Given the description of an element on the screen output the (x, y) to click on. 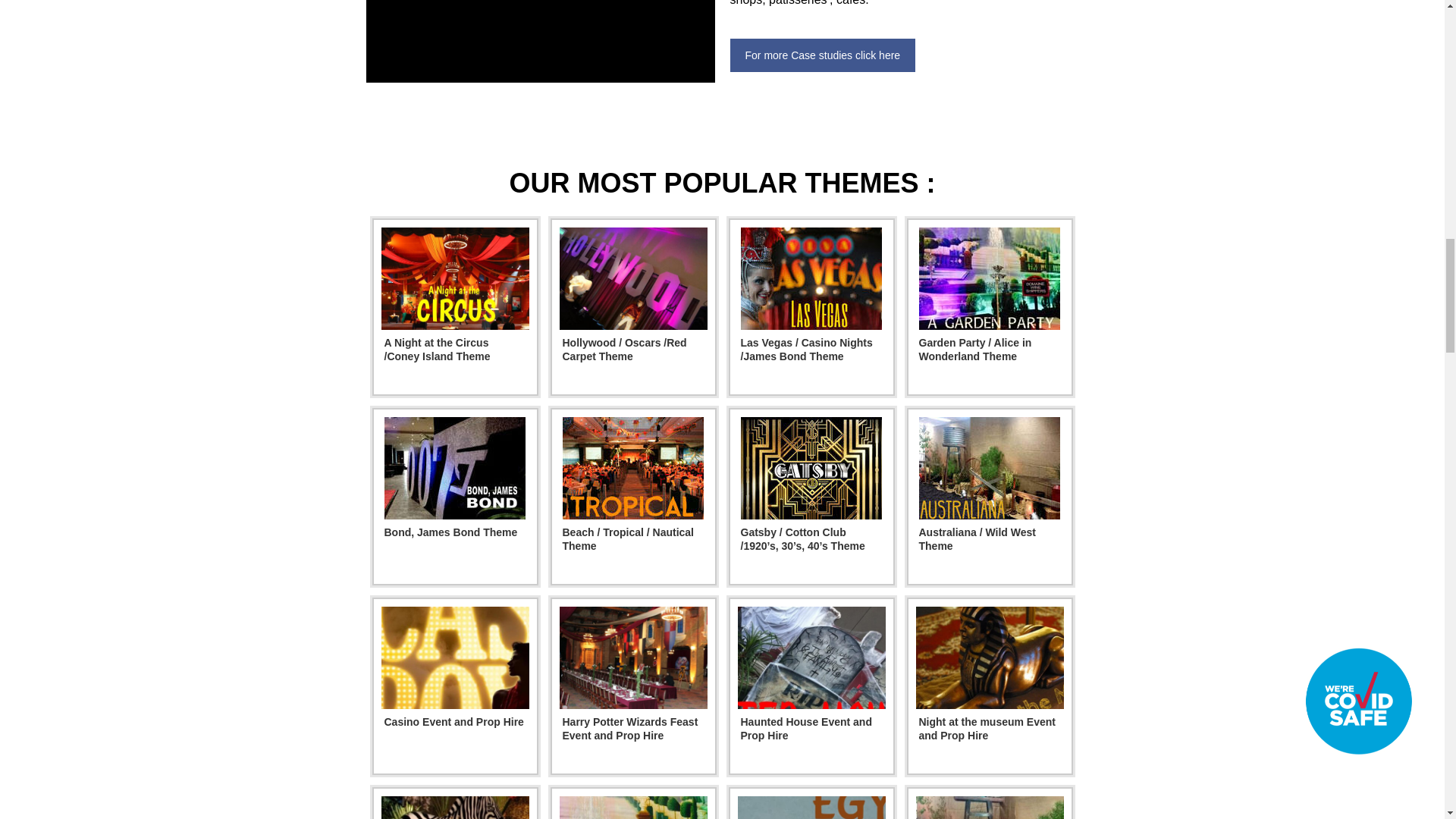
vimeo Video Player (539, 41)
